Given the description of an element on the screen output the (x, y) to click on. 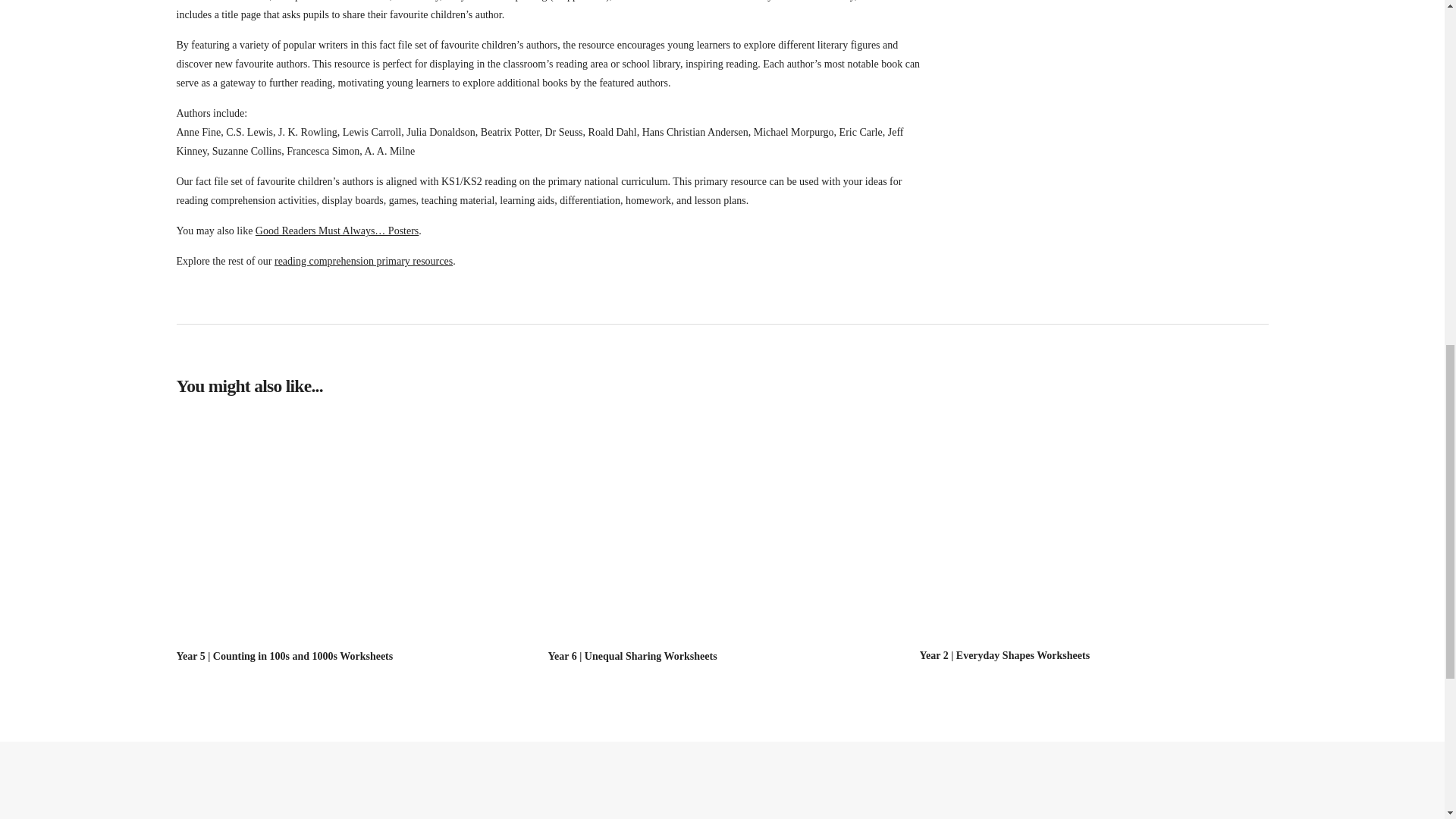
reading comprehension primary resources (363, 260)
